Given the description of an element on the screen output the (x, y) to click on. 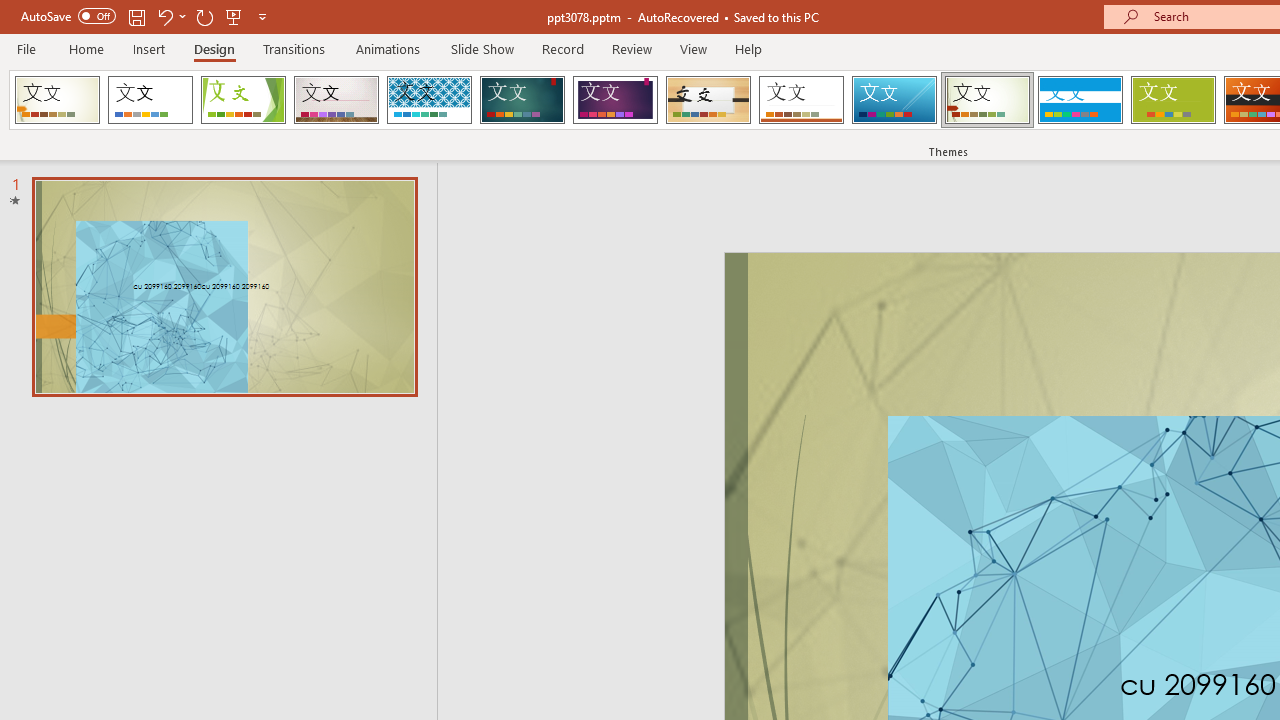
Banded Loading Preview... (1080, 100)
Facet (243, 100)
Office Theme (150, 100)
Basis Loading Preview... (1172, 100)
Retrospect Loading Preview... (801, 100)
